Given the description of an element on the screen output the (x, y) to click on. 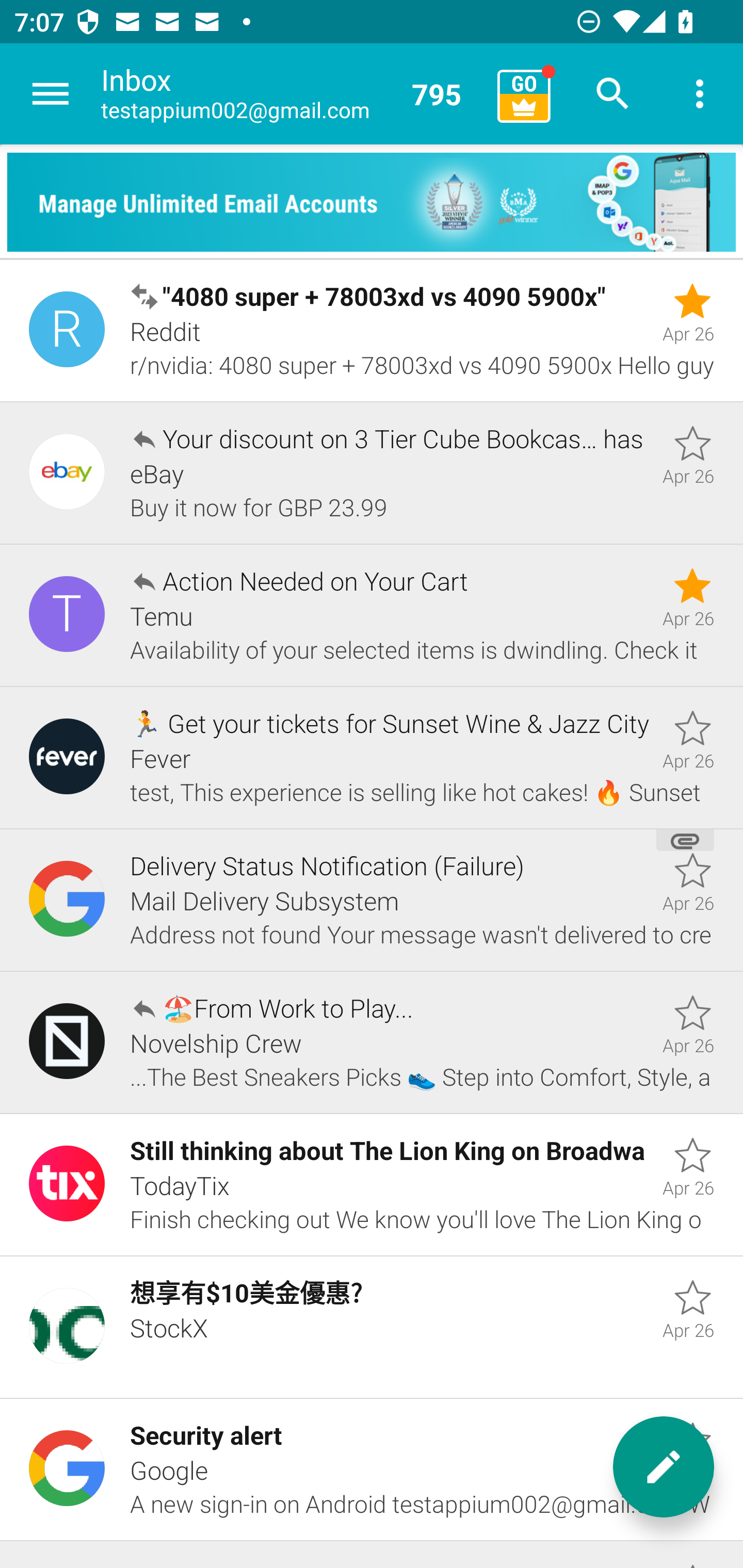
Navigate up (50, 93)
Inbox testappium002@gmail.com 795 (291, 93)
Search (612, 93)
More options (699, 93)
Unread, 想享有$10美金優惠?, StockX, Apr 26 (371, 1326)
New message (663, 1466)
